Given the description of an element on the screen output the (x, y) to click on. 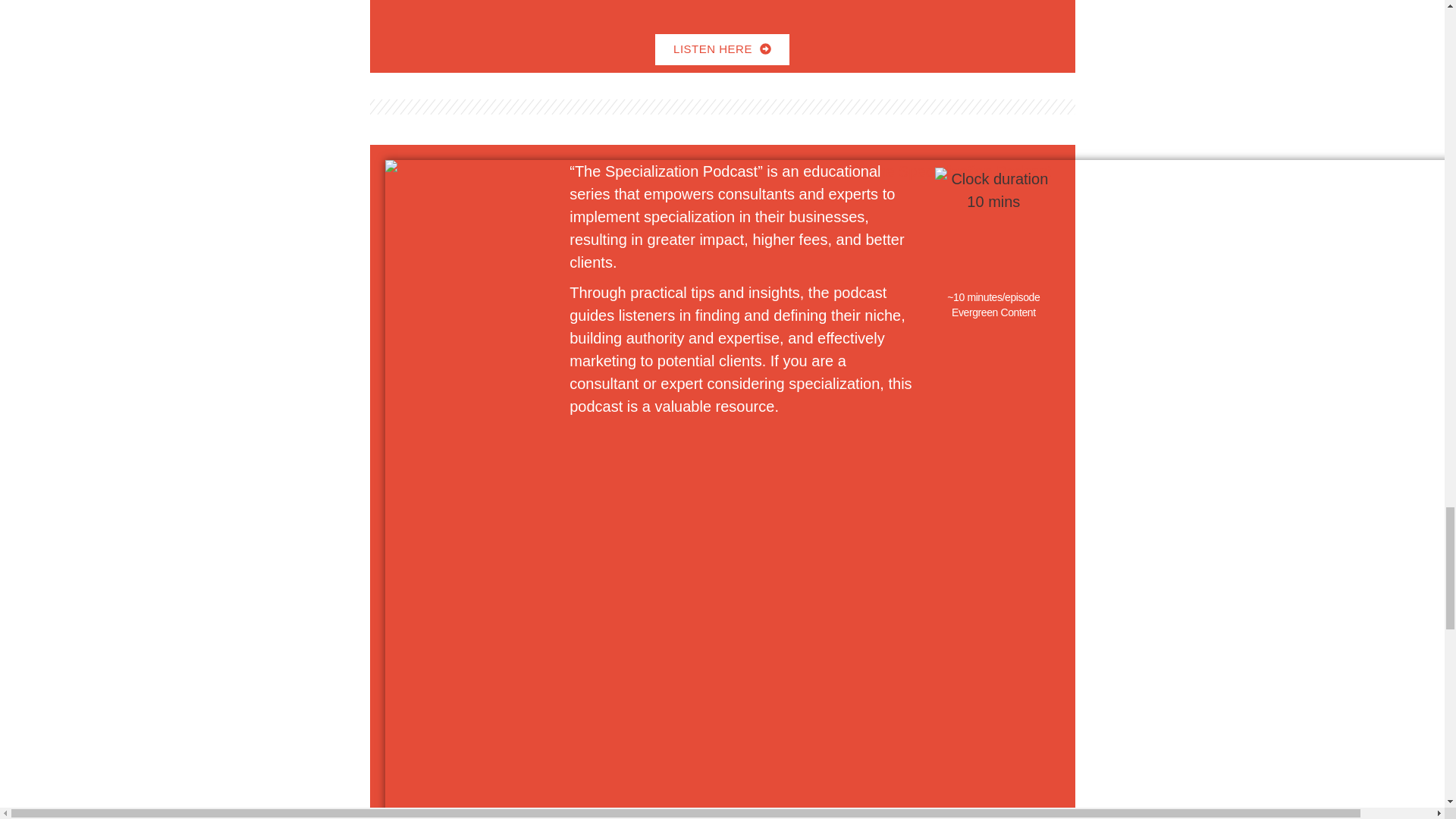
LISTEN HERE (722, 49)
